Given the description of an element on the screen output the (x, y) to click on. 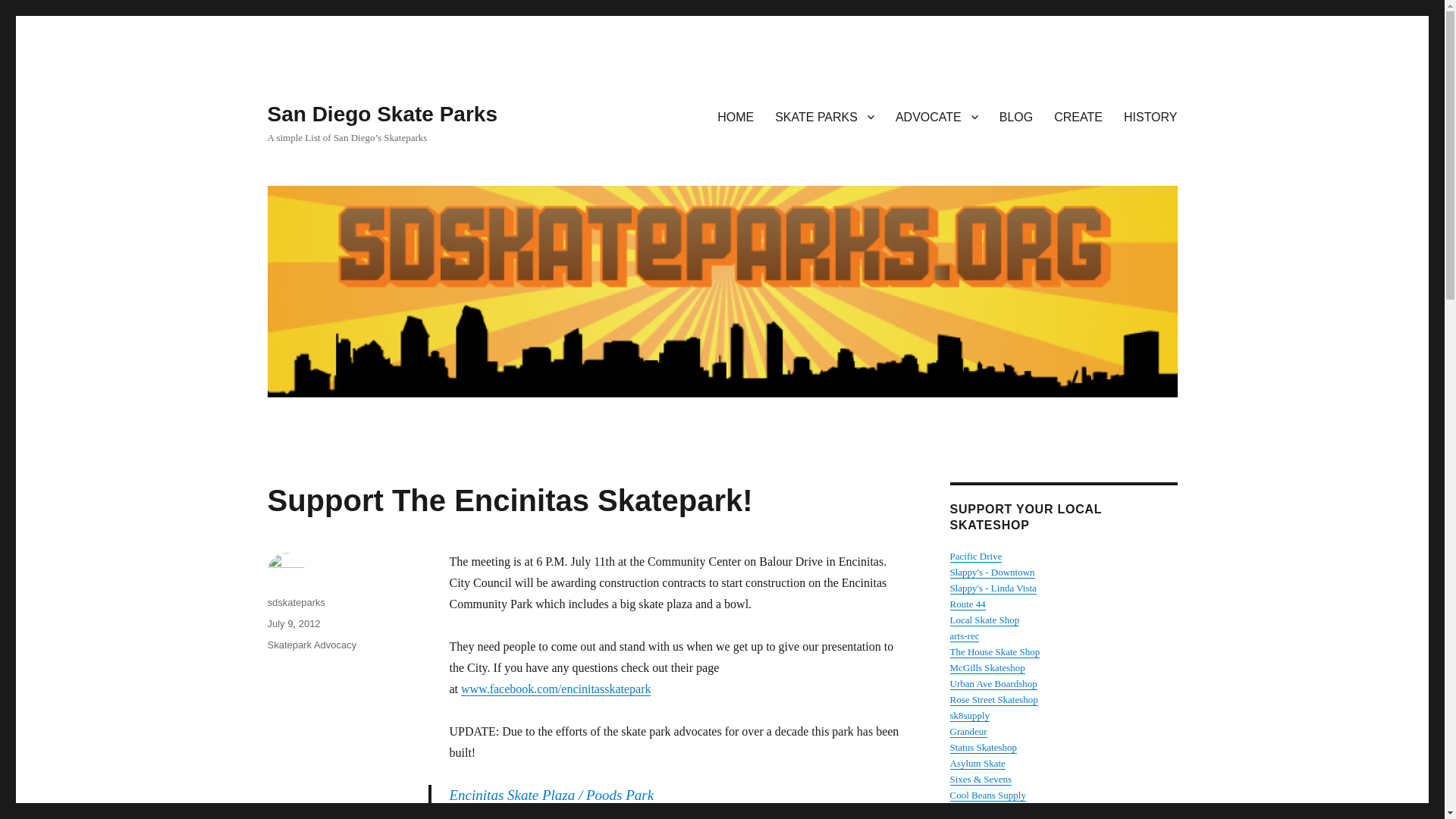
HOME (735, 116)
San Diego Skate Parks (381, 114)
SKATE PARKS (824, 116)
